Given the description of an element on the screen output the (x, y) to click on. 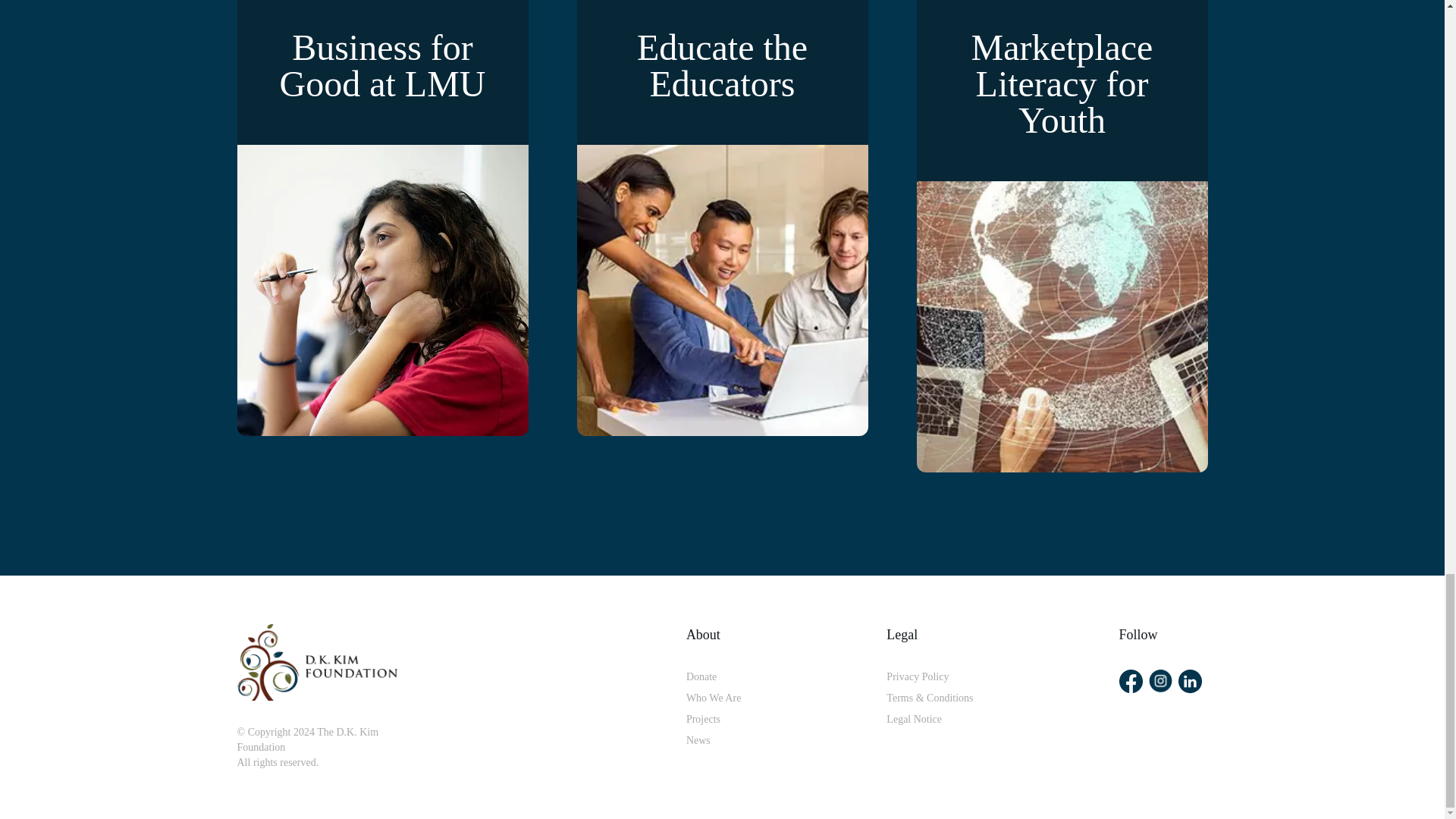
Projects (713, 719)
Legal Notice (929, 719)
Who We Are (713, 698)
News (713, 740)
Privacy Policy (929, 676)
Donate (713, 676)
